Given the description of an element on the screen output the (x, y) to click on. 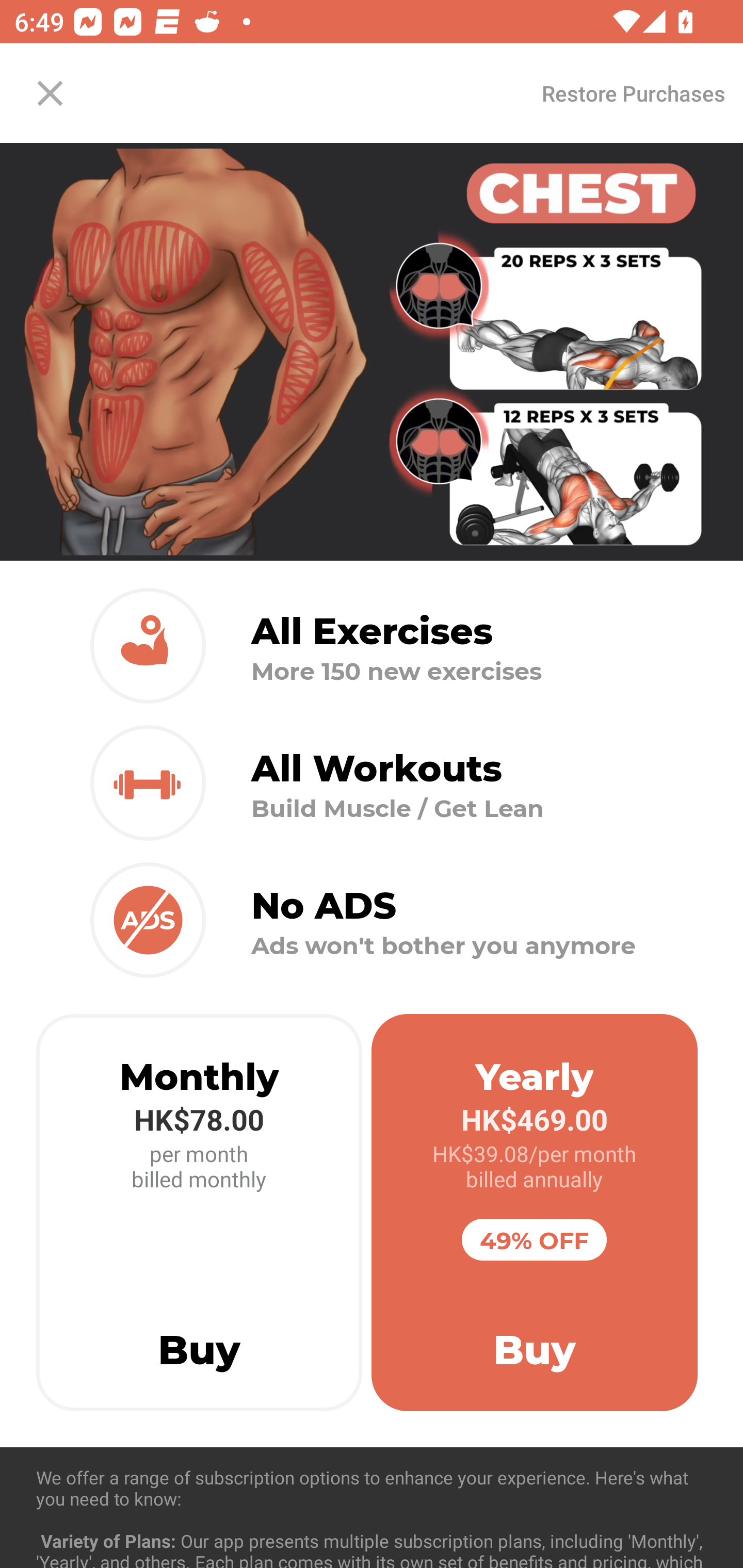
Restore Purchases (632, 92)
Monthly HK$78.00 per month
billed monthly Buy (199, 1212)
